Given the description of an element on the screen output the (x, y) to click on. 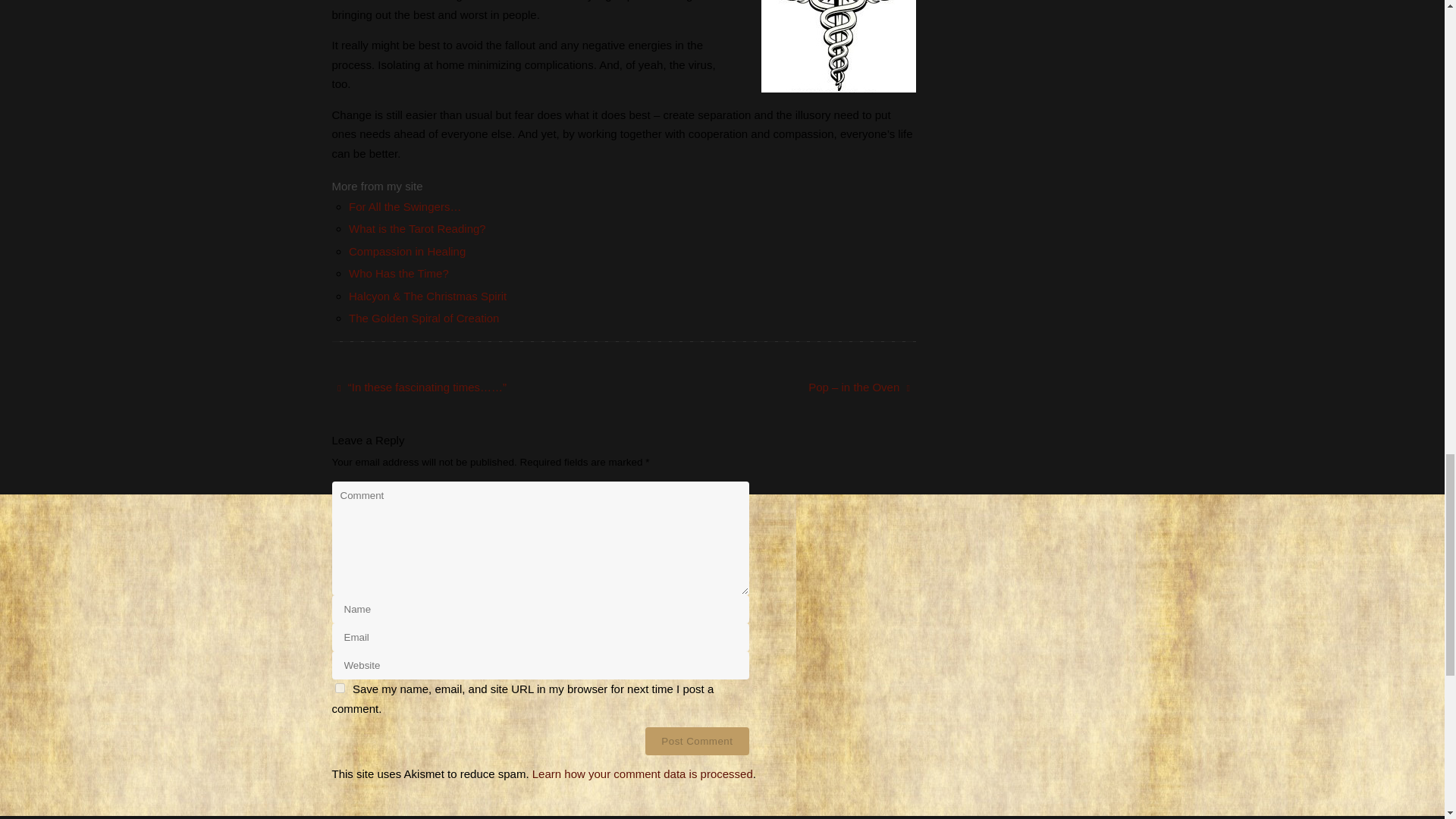
What is the Tarot Reading? (417, 228)
Learn how your comment data is processed (642, 773)
Post Comment (696, 741)
Post Comment (696, 741)
Who Has the Time? (398, 273)
Compassion in Healing (407, 250)
yes (339, 687)
The Golden Spiral of Creation (424, 318)
